Given the description of an element on the screen output the (x, y) to click on. 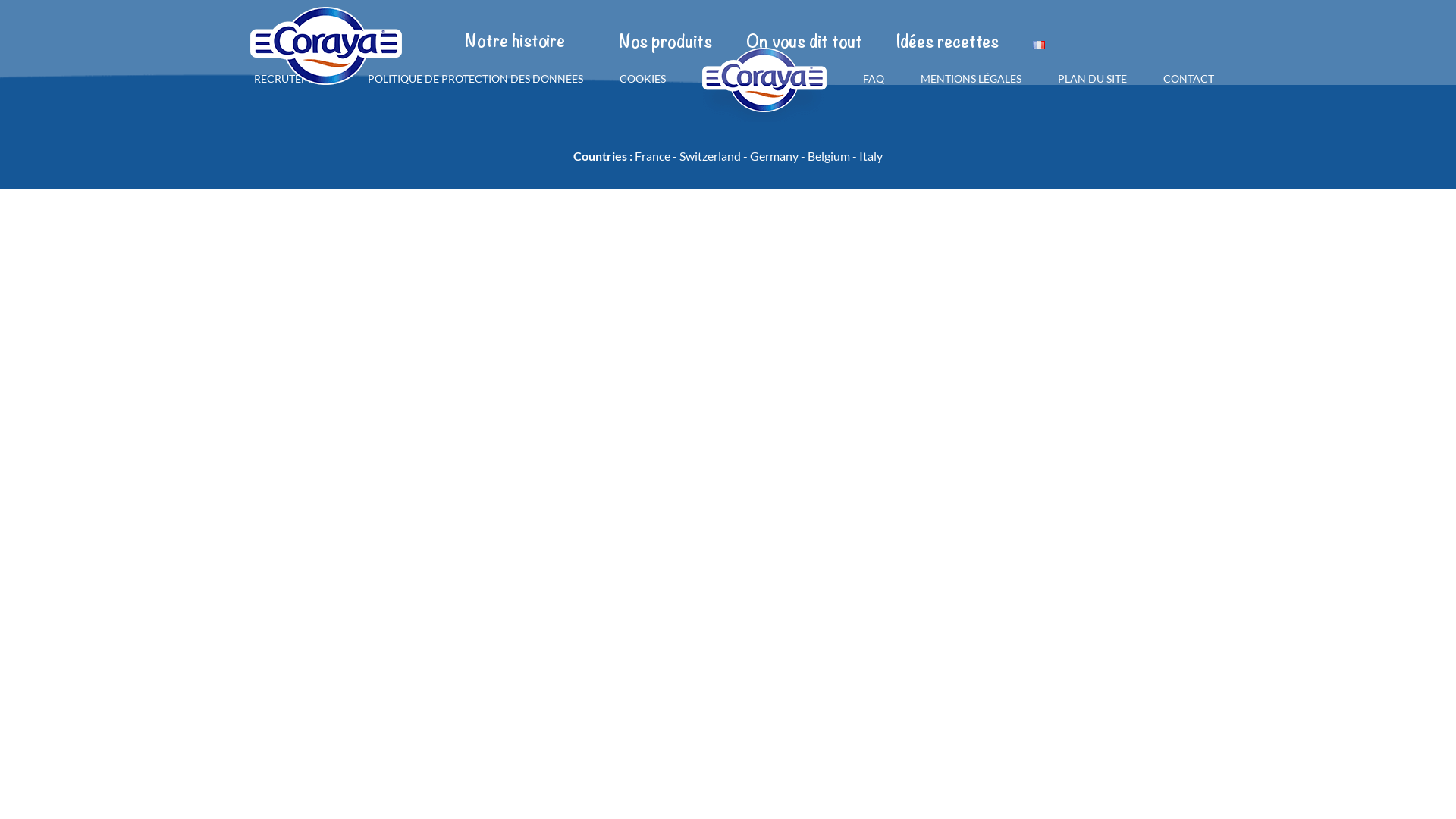
COOKIES Element type: text (641, 79)
Switzerland Element type: text (709, 155)
Accueil Coraya Element type: hover (325, 45)
Belgium Element type: text (828, 155)
Germany Element type: text (773, 155)
CONTACT Element type: text (1188, 79)
FAQ Element type: text (873, 79)
PLAN DU SITE Element type: text (1091, 79)
Italy Element type: text (870, 155)
RECRUTEMENT Element type: text (291, 79)
Notre histoire Element type: text (514, 41)
France Element type: text (652, 155)
Nos produits Element type: text (665, 42)
On vous dit tout Element type: text (804, 42)
